Given the description of an element on the screen output the (x, y) to click on. 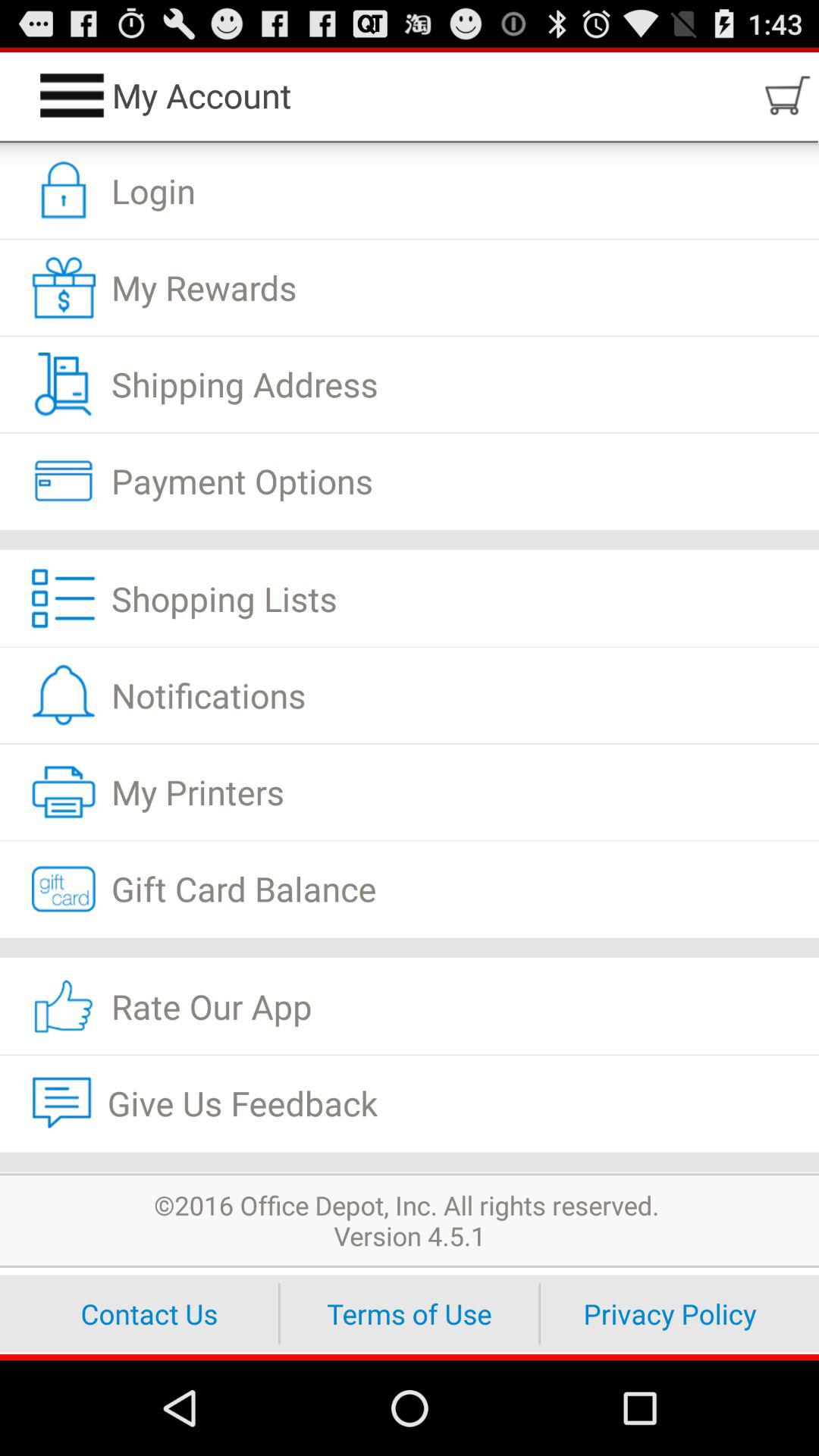
click icon below gift card balance (409, 947)
